Given the description of an element on the screen output the (x, y) to click on. 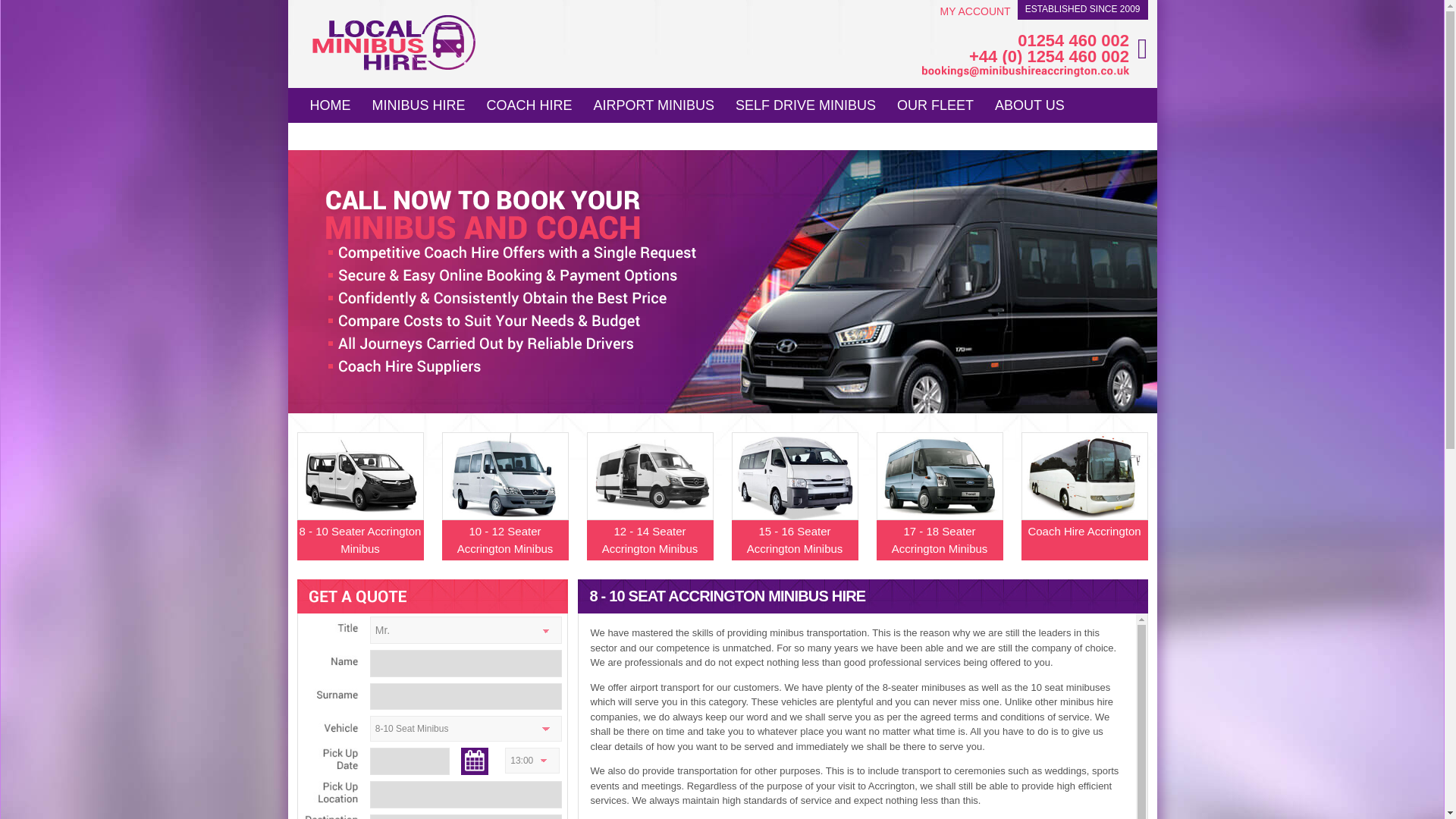
AIRPORT MINIBUS (654, 102)
HOME (329, 102)
17 - 18 Seater Accrington Minibus (939, 510)
8 - 10 Seater Accrington Minibus (360, 510)
MINIBUS HIRE (418, 102)
SELF DRIVE MINIBUS (805, 102)
15 - 16 Seater Accrington Minibus (793, 510)
COACH HIRE (529, 102)
ABOUT US (1029, 102)
OUR FLEET (935, 102)
